Given the description of an element on the screen output the (x, y) to click on. 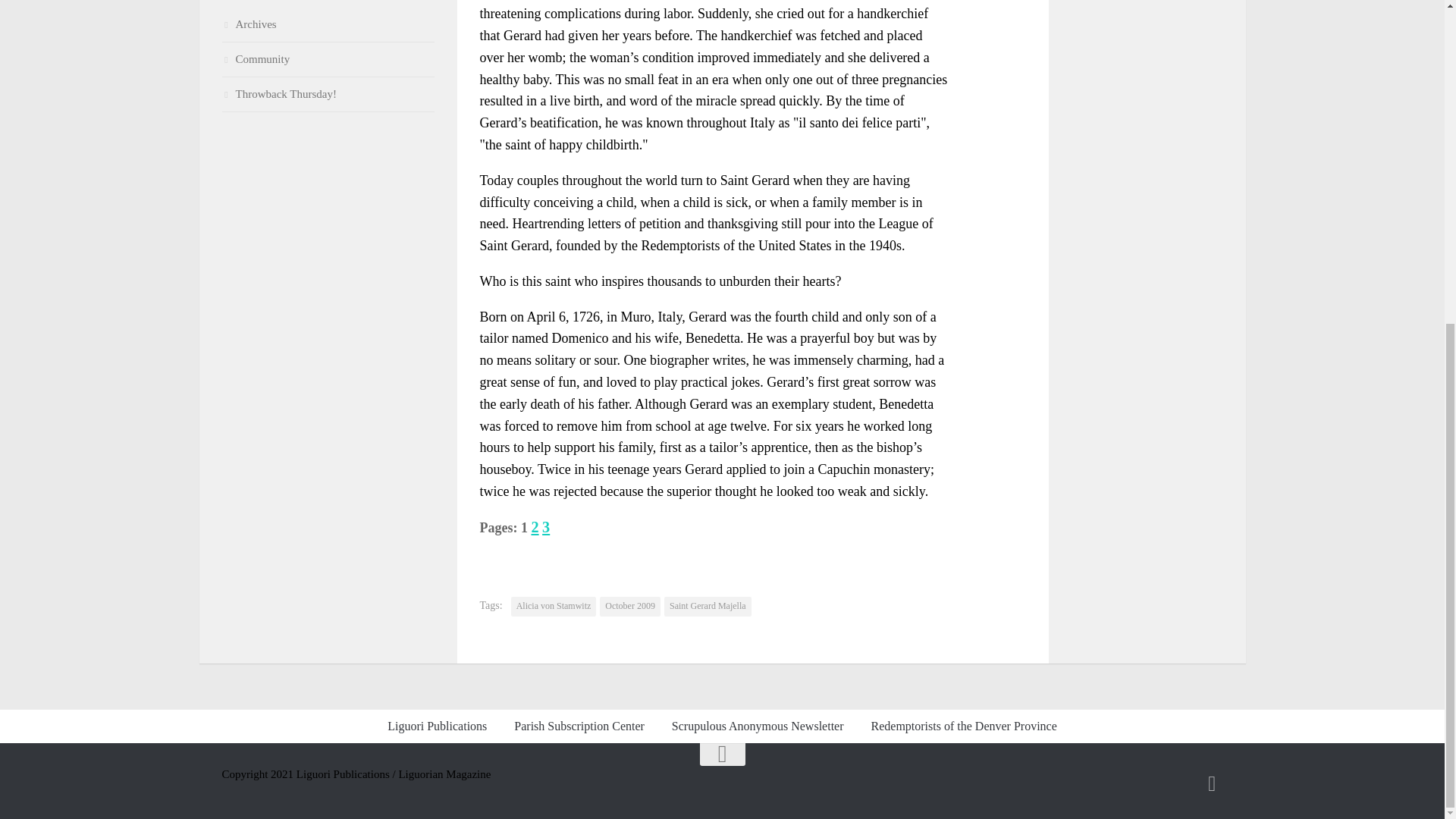
Follow us on Facebook (1212, 783)
